Given the description of an element on the screen output the (x, y) to click on. 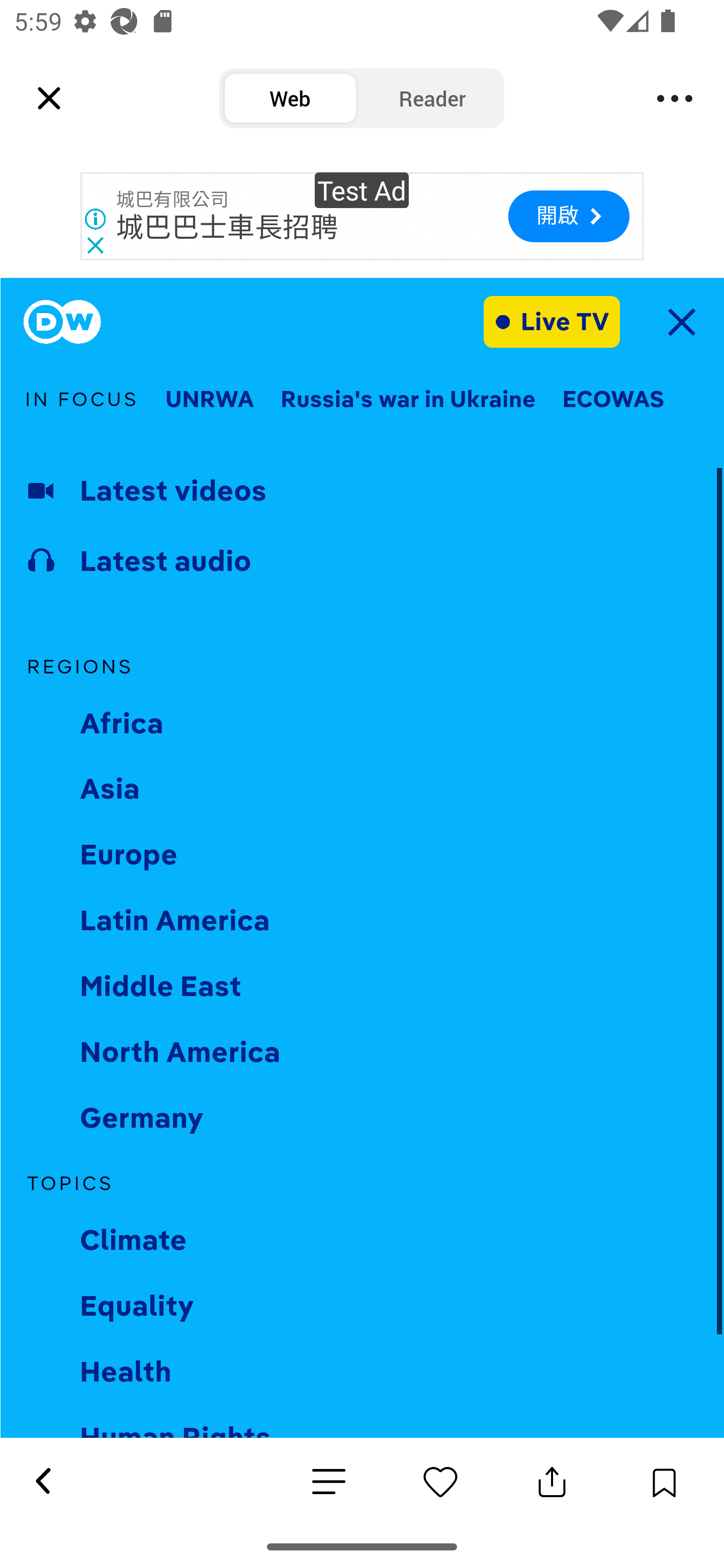
Reader (432, 98)
Menu (674, 98)
Leading Icon (49, 98)
城巴有限公司 (172, 199)
開啟 (568, 216)
城巴巴士車長招聘 (226, 227)
Close main navigation (681, 322)
Live TV (551, 321)
dw.com home - Made for minds (61, 321)
UNRWA (209, 399)
Russia's war in Ukraine (408, 399)
ECOWAS (613, 399)
Back Button (42, 1481)
News Detail Emotion (440, 1481)
Share Button (551, 1481)
Save Button (663, 1481)
News Detail Emotion (329, 1482)
